Given the description of an element on the screen output the (x, y) to click on. 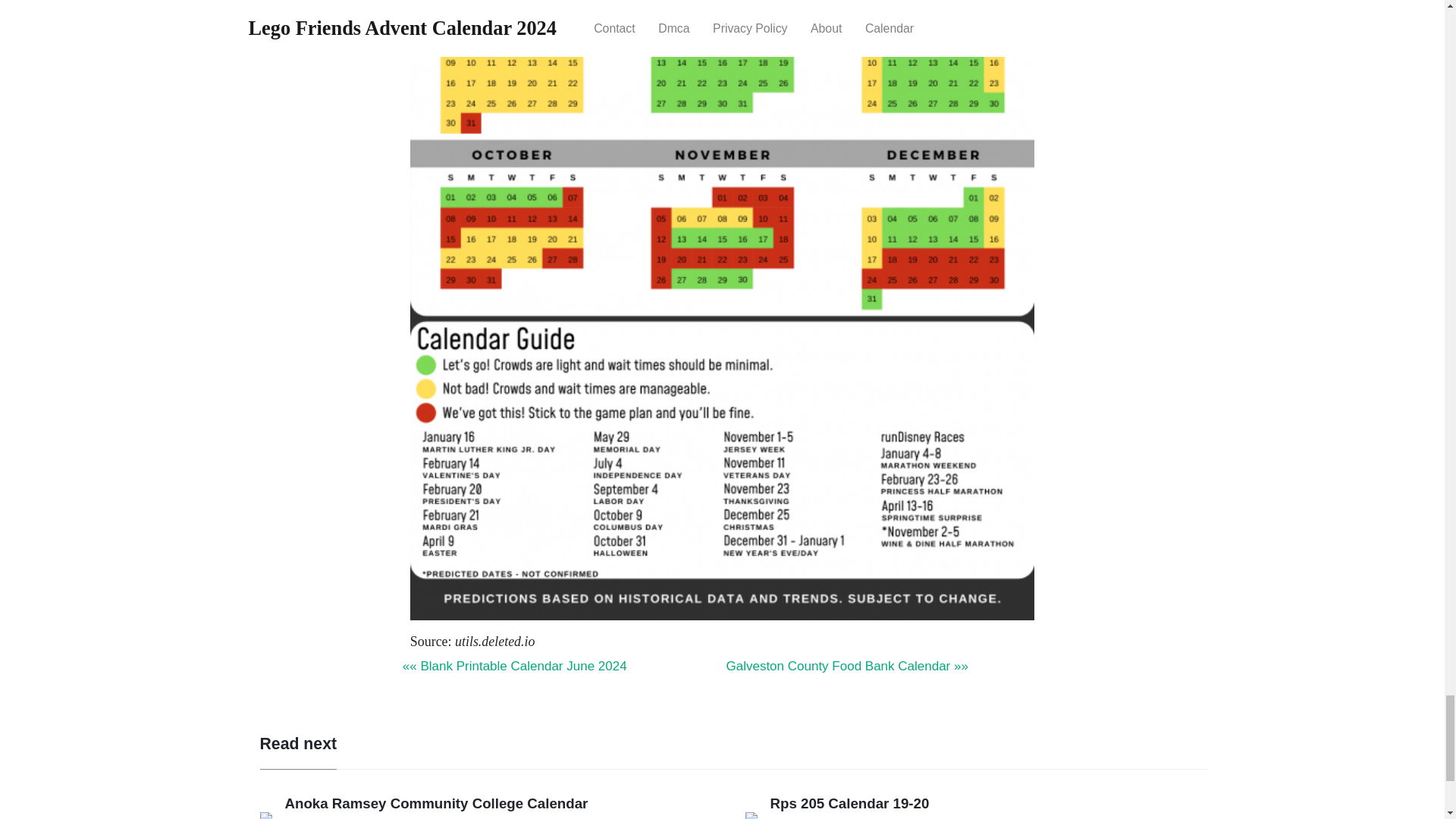
Rps 205 Calendar 19-20 (850, 803)
Anoka Ramsey Community College Calendar (436, 803)
